Given the description of an element on the screen output the (x, y) to click on. 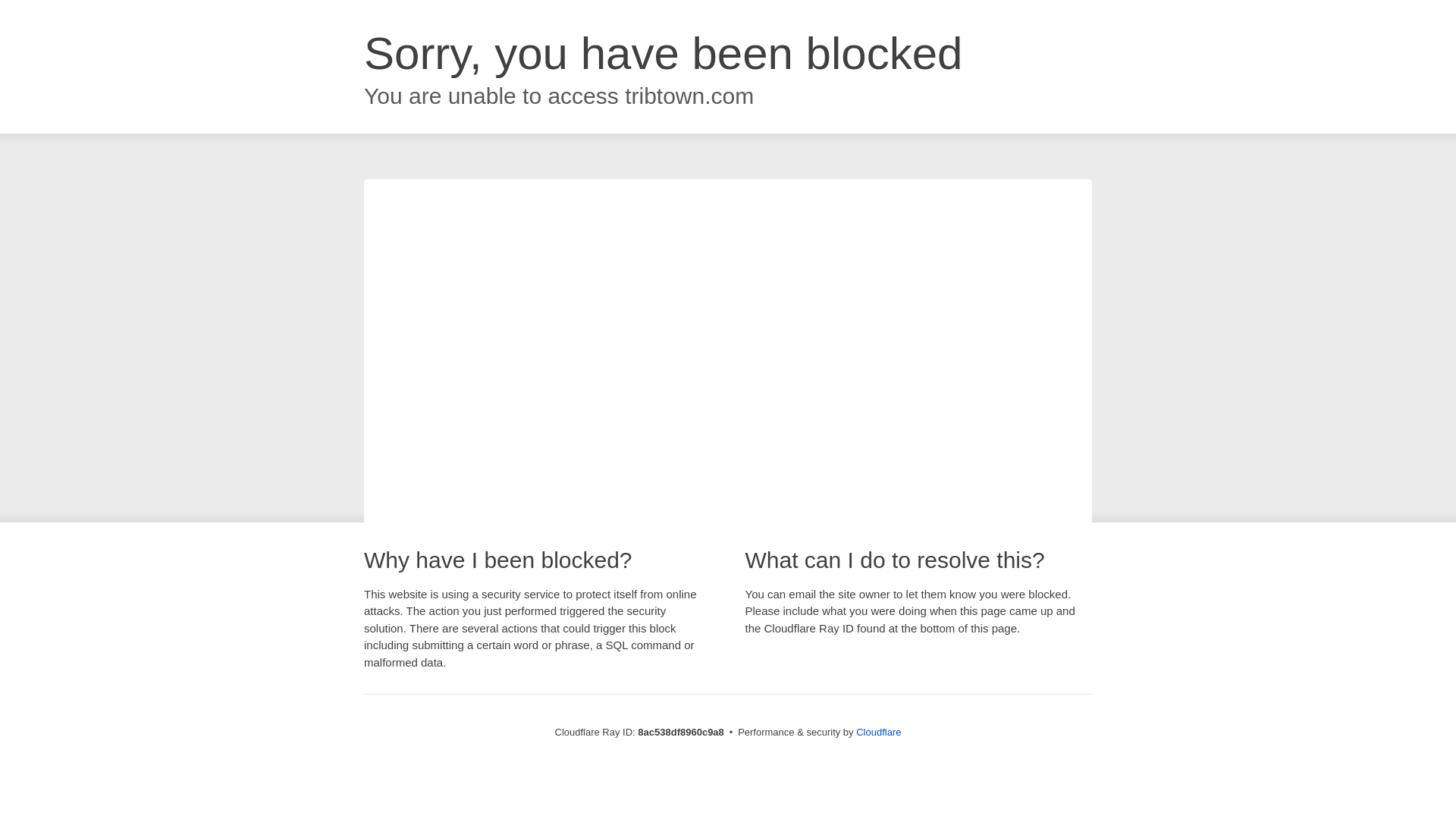
Cloudflare (878, 731)
